Given the description of an element on the screen output the (x, y) to click on. 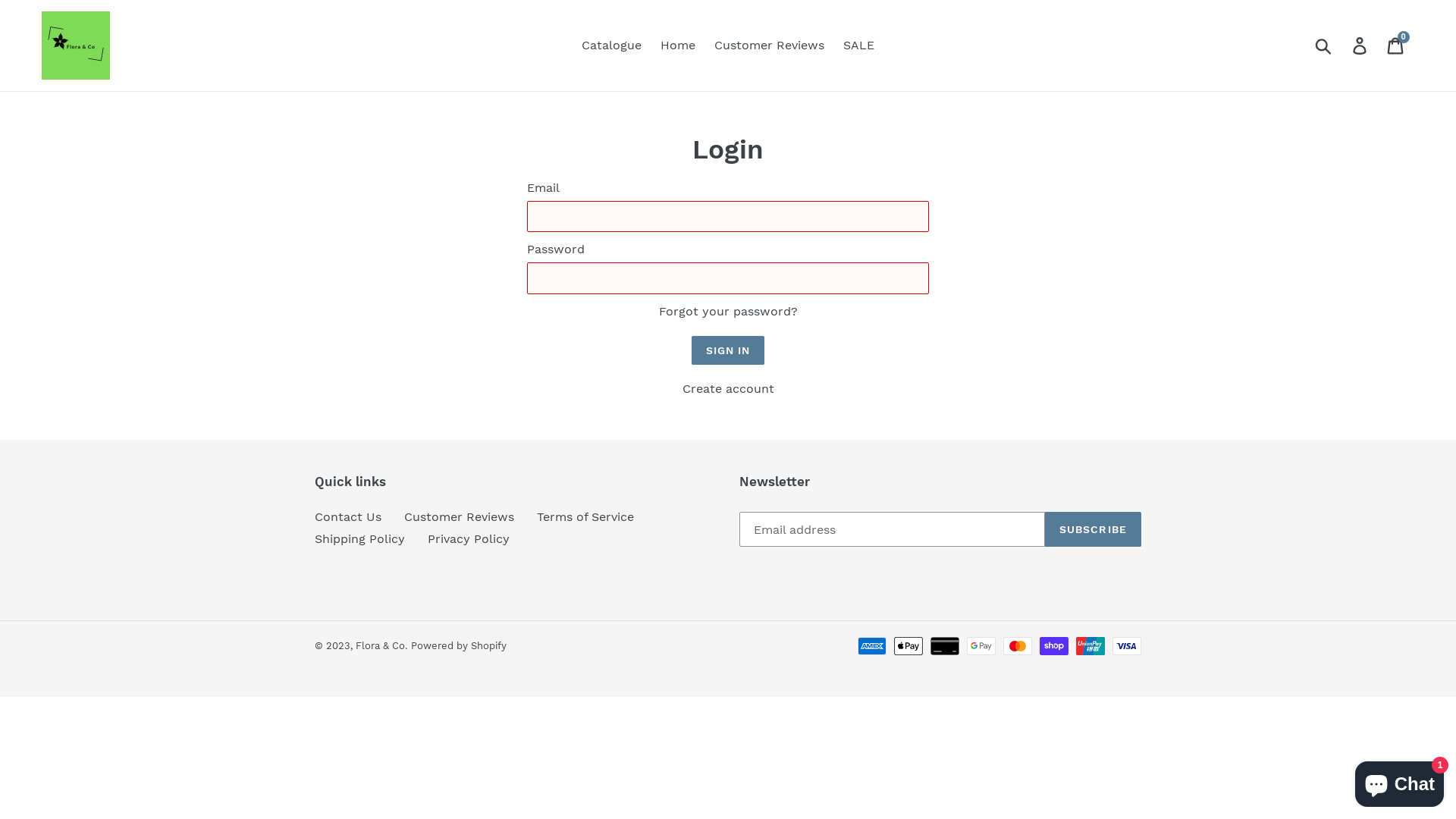
SALE Element type: text (858, 45)
Home Element type: text (677, 45)
Terms of Service Element type: text (584, 516)
Create account Element type: text (728, 388)
Forgot your password? Element type: text (727, 311)
SUBSCRIBE Element type: text (1092, 528)
Powered by Shopify Element type: text (458, 645)
Privacy Policy Element type: text (468, 538)
Submit Element type: text (1324, 45)
Flora & Co. Element type: text (381, 645)
Cart
0 Element type: text (1396, 45)
Catalogue Element type: text (611, 45)
Shopify online store chat Element type: hover (1399, 780)
Log in Element type: text (1360, 45)
Customer Reviews Element type: text (768, 45)
Shipping Policy Element type: text (359, 538)
Customer Reviews Element type: text (459, 516)
Sign In Element type: text (728, 350)
Contact Us Element type: text (347, 516)
